Given the description of an element on the screen output the (x, y) to click on. 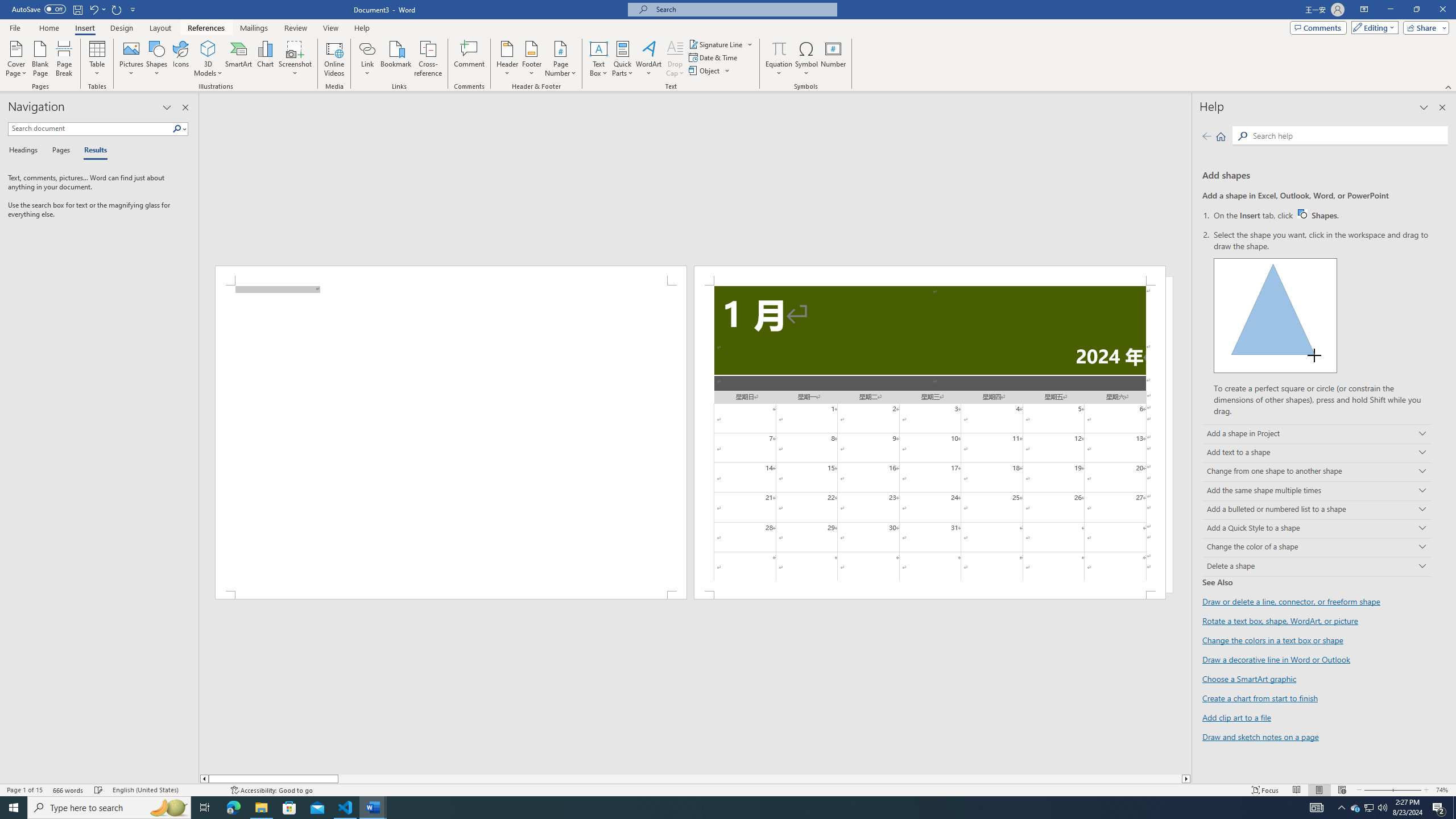
Add text to a shape (1316, 452)
Object... (709, 69)
Add a Quick Style to a shape (1316, 529)
Create a chart from start to finish (1259, 697)
Drop Cap (674, 58)
Page 2 content (930, 438)
Date & Time... (714, 56)
Header (507, 58)
